Given the description of an element on the screen output the (x, y) to click on. 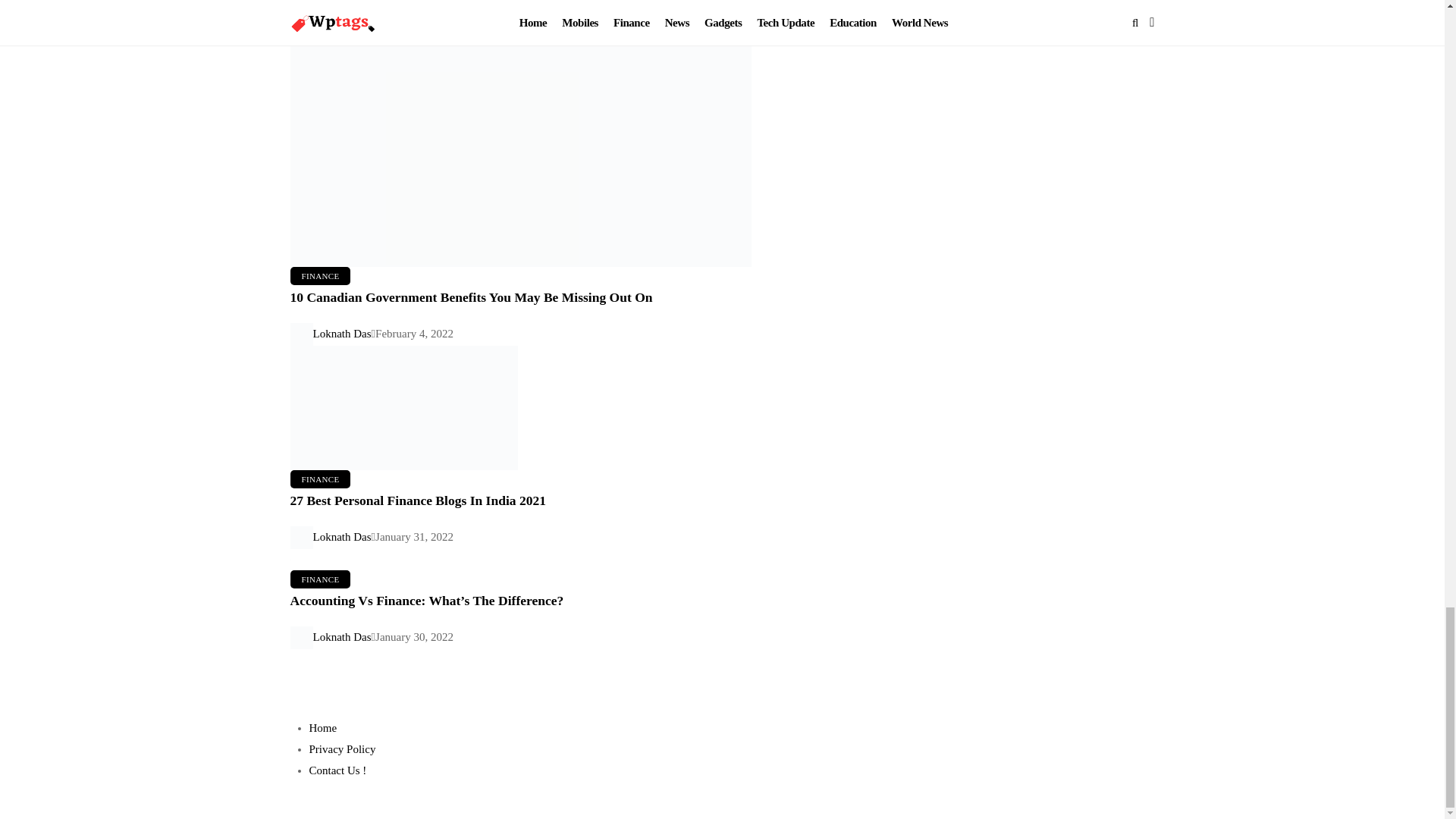
10 Canadian Government Benefits You May Be Missing Out On (577, 178)
Posts by Loknath Das (342, 536)
27 Best Personal Finance Blogs In India 2021 (577, 435)
Posts by Loknath Das (342, 333)
10 Canadian Government Benefits You May Be Missing Out On (470, 296)
FINANCE (319, 275)
Posts by Loknath Das (342, 636)
